Given the description of an element on the screen output the (x, y) to click on. 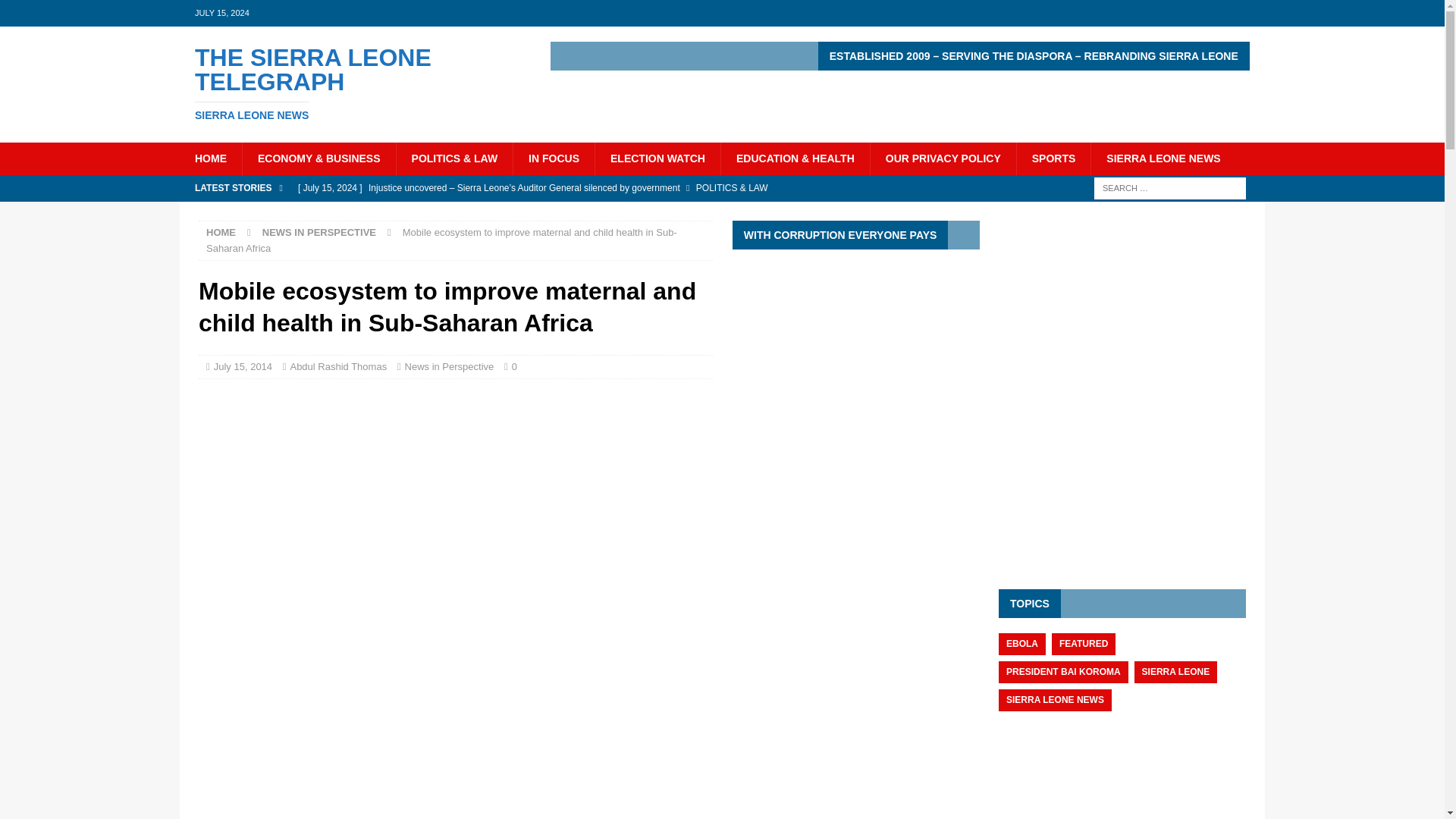
HOME (351, 83)
July 15, 2014 (210, 158)
IN FOCUS (243, 366)
Search (553, 158)
Abdul Rashid Thomas (56, 11)
The Sierra Leone Telegraph (338, 366)
W (351, 83)
NEWS IN PERSPECTIVE (1053, 158)
